Given the description of an element on the screen output the (x, y) to click on. 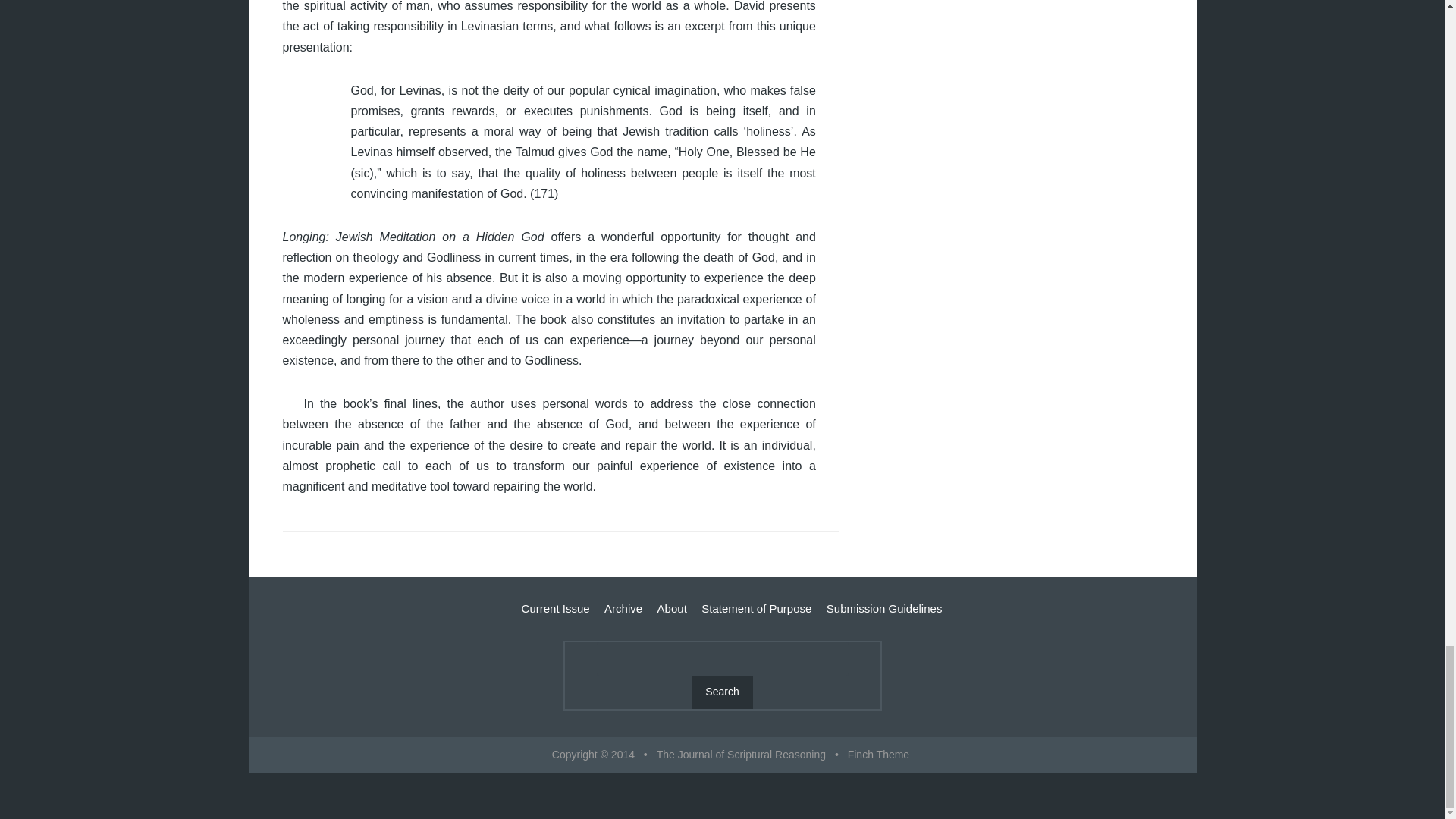
The Journal of Scriptural Reasoning (740, 754)
Search (721, 692)
Current Issue (555, 608)
Submission Guidelines (884, 608)
Statement of Purpose (755, 608)
Archive (623, 608)
Search (721, 692)
Search (721, 692)
About (672, 608)
Finch WordPress Theme (877, 754)
Finch Theme (877, 754)
The Journal of Scriptural Reasoning (740, 754)
